Given the description of an element on the screen output the (x, y) to click on. 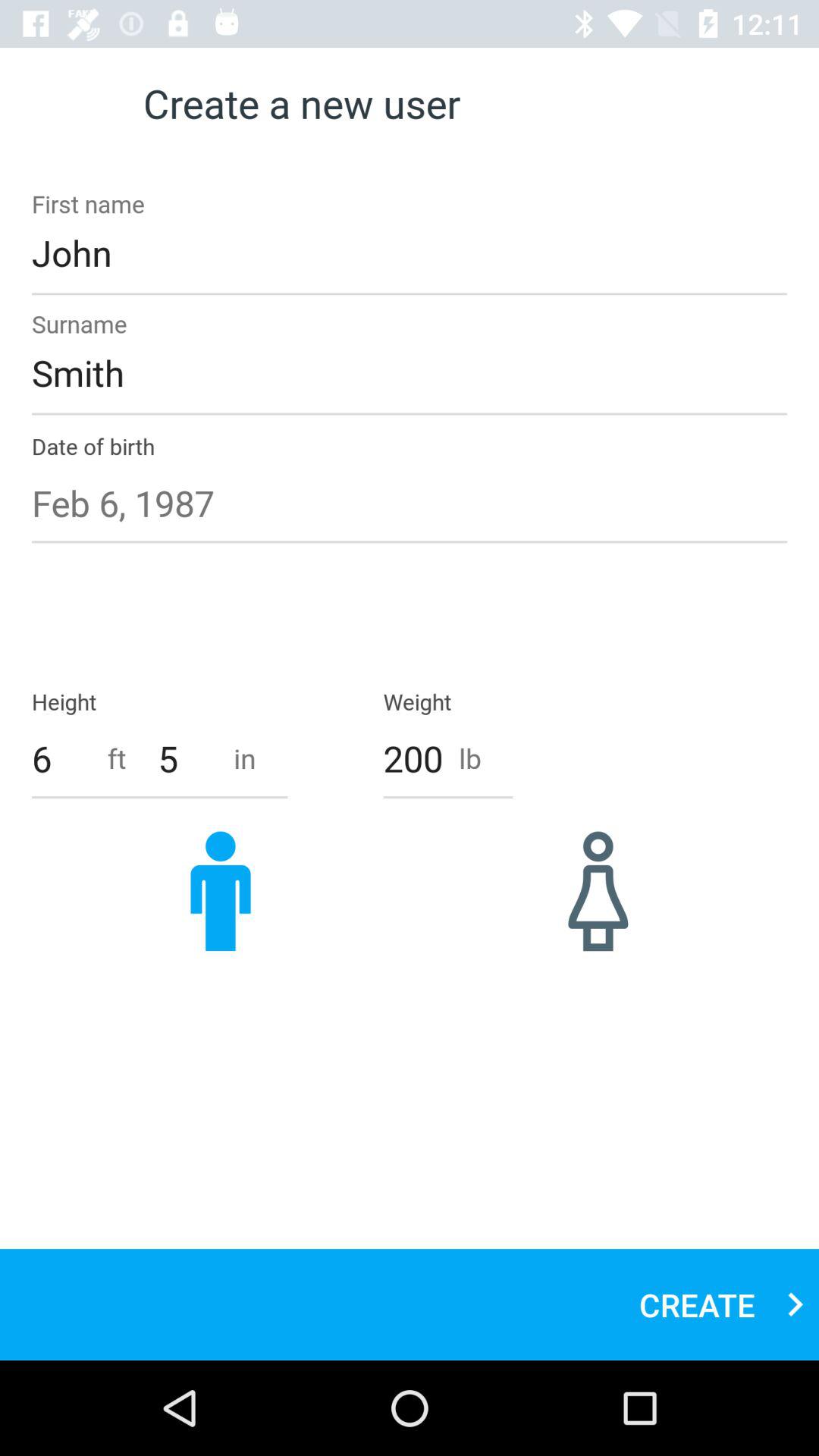
select icon above height icon (409, 502)
